Given the description of an element on the screen output the (x, y) to click on. 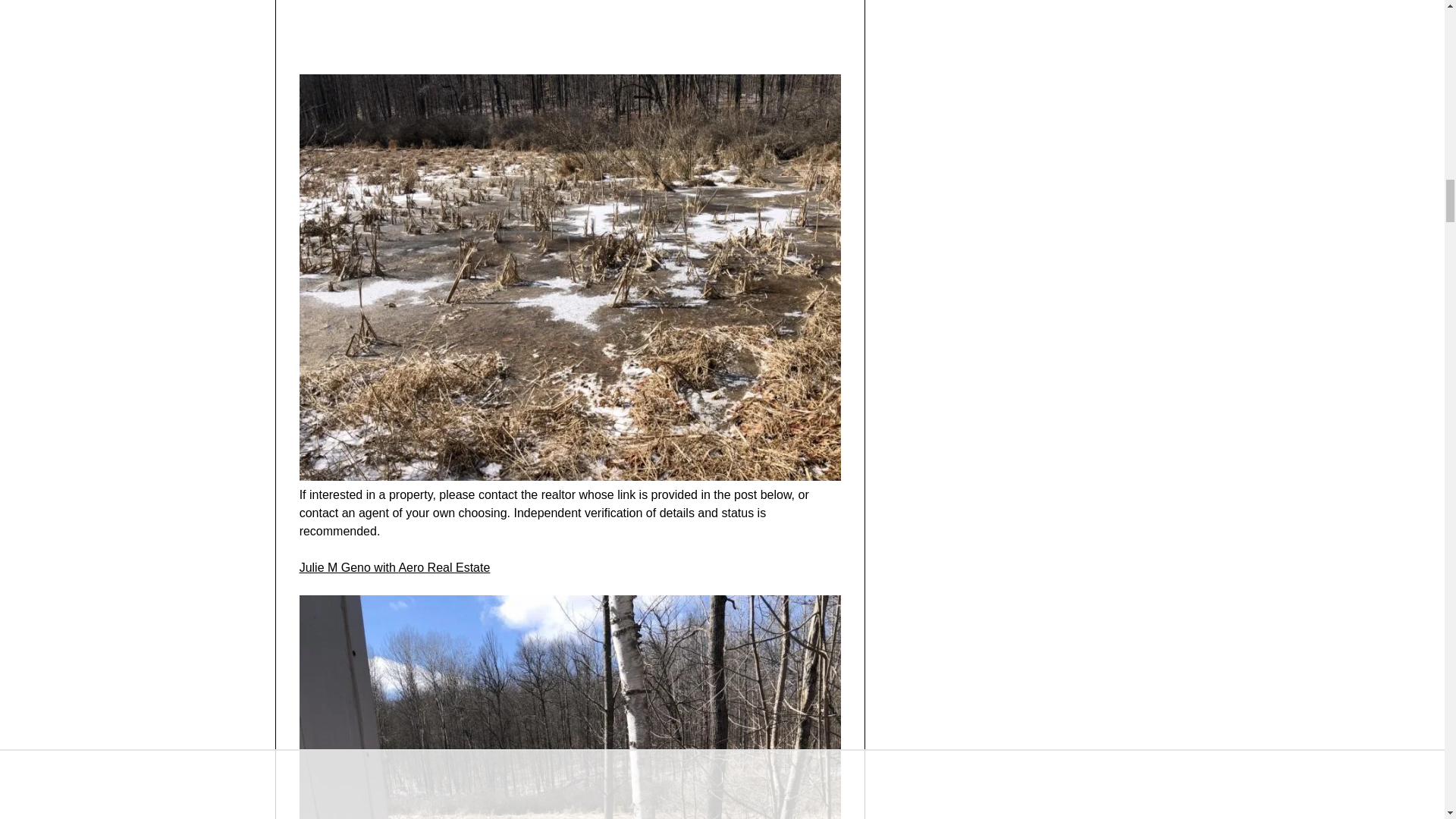
Julie M Geno with Aero Real Estate (394, 567)
